Given the description of an element on the screen output the (x, y) to click on. 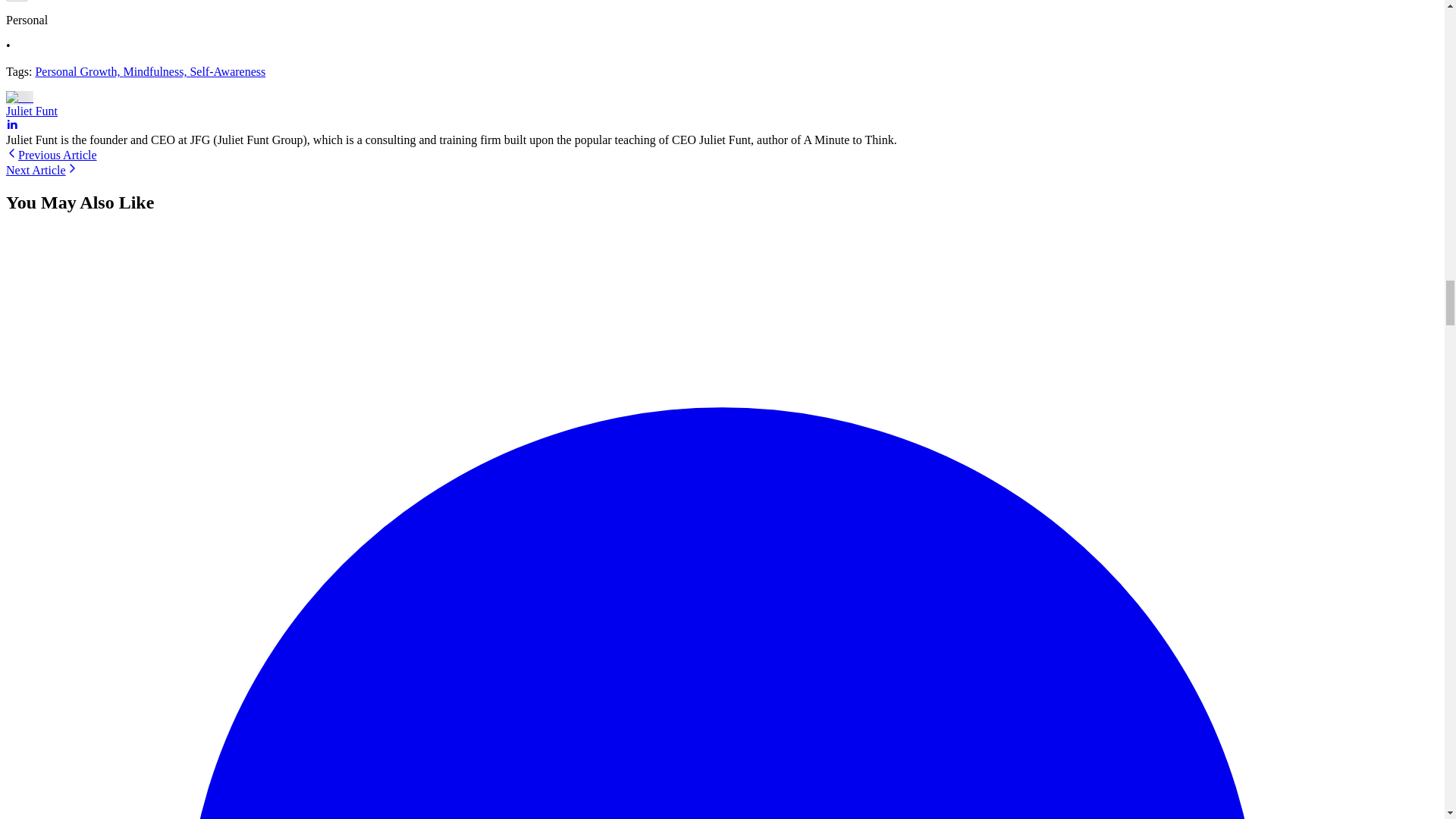
Self-Awareness (226, 71)
Mindfulness, (155, 71)
Next Article (41, 169)
Previous Article (51, 154)
Juliet Funt (31, 110)
Personal Growth, (78, 71)
